Given the description of an element on the screen output the (x, y) to click on. 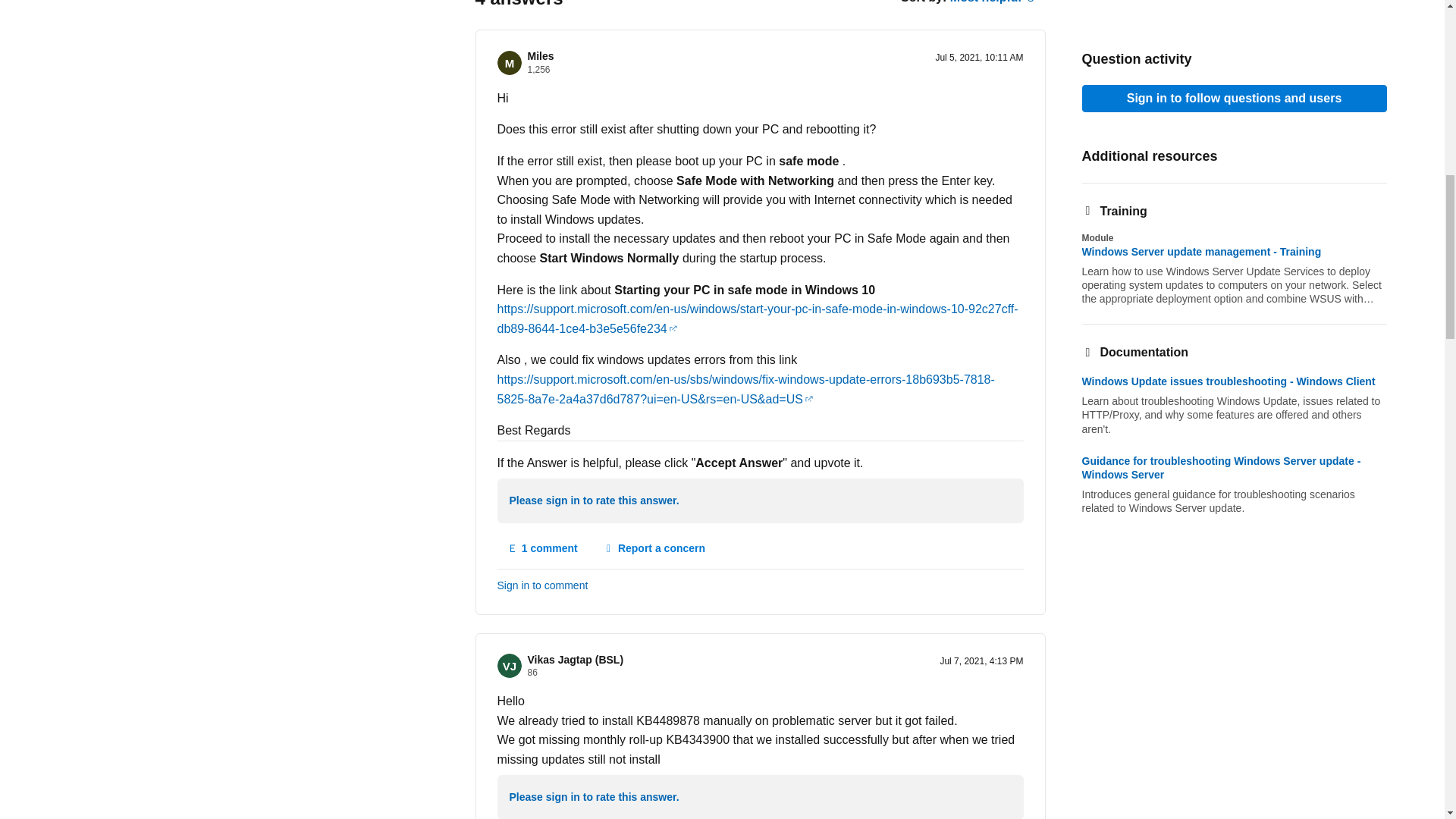
Reputation points (538, 69)
Reputation points (532, 672)
Show comments for this answer (542, 548)
Report a concern (654, 548)
